Given the description of an element on the screen output the (x, y) to click on. 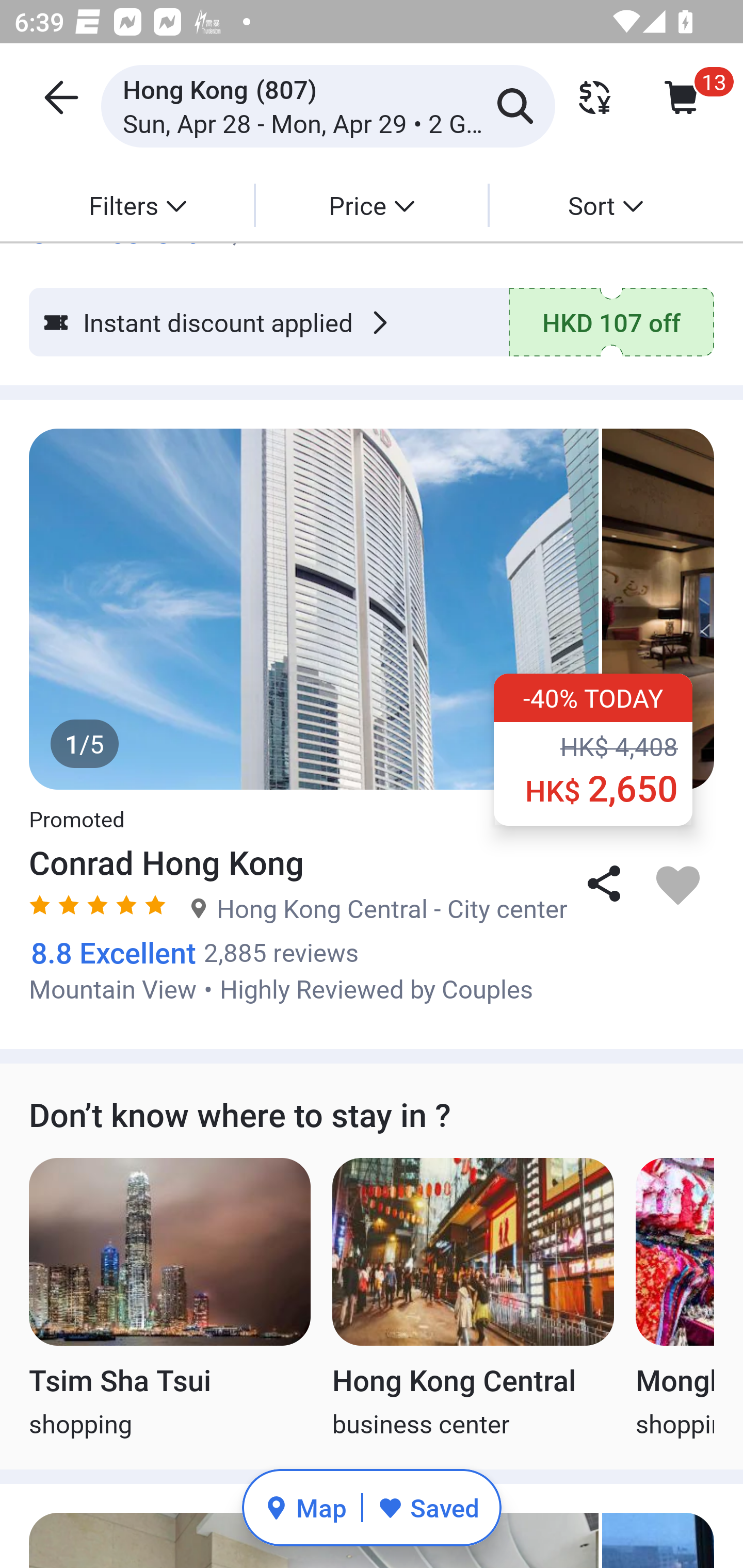
Filters (137, 205)
Price (371, 205)
Sort (605, 205)
Instant discount applied HKD 107 off (371, 322)
1/5 (371, 609)
-40% TODAY ‪HK$ 4,408 ‪HK$ 2,650 (593, 750)
Promoted (76, 808)
Tsim Sha Tsui shopping (169, 1298)
Hong Kong Central business center (472, 1298)
Map (305, 1507)
Saved (428, 1507)
